Given the description of an element on the screen output the (x, y) to click on. 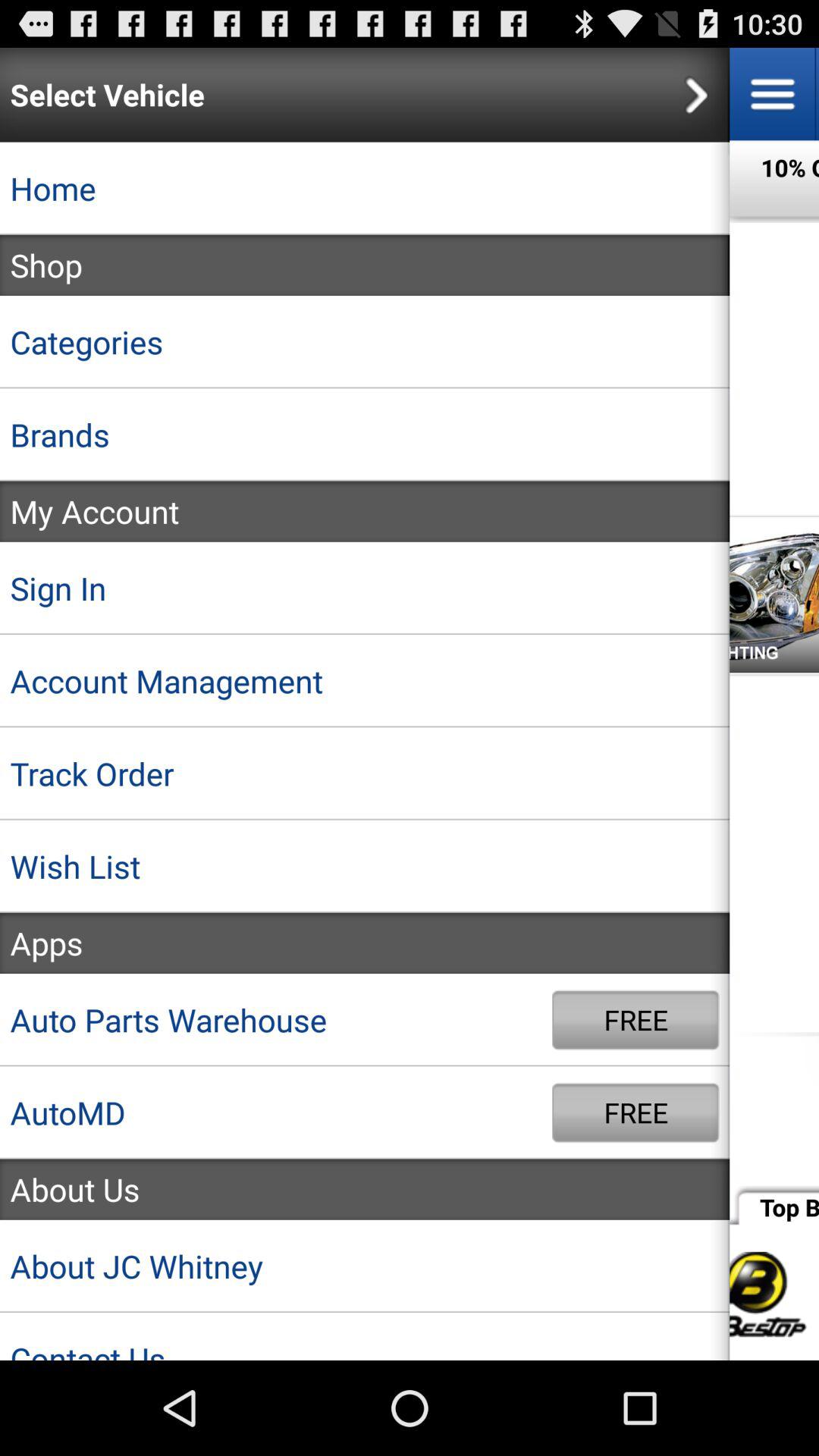
open icon next to the top brands icon (364, 1189)
